Given the description of an element on the screen output the (x, y) to click on. 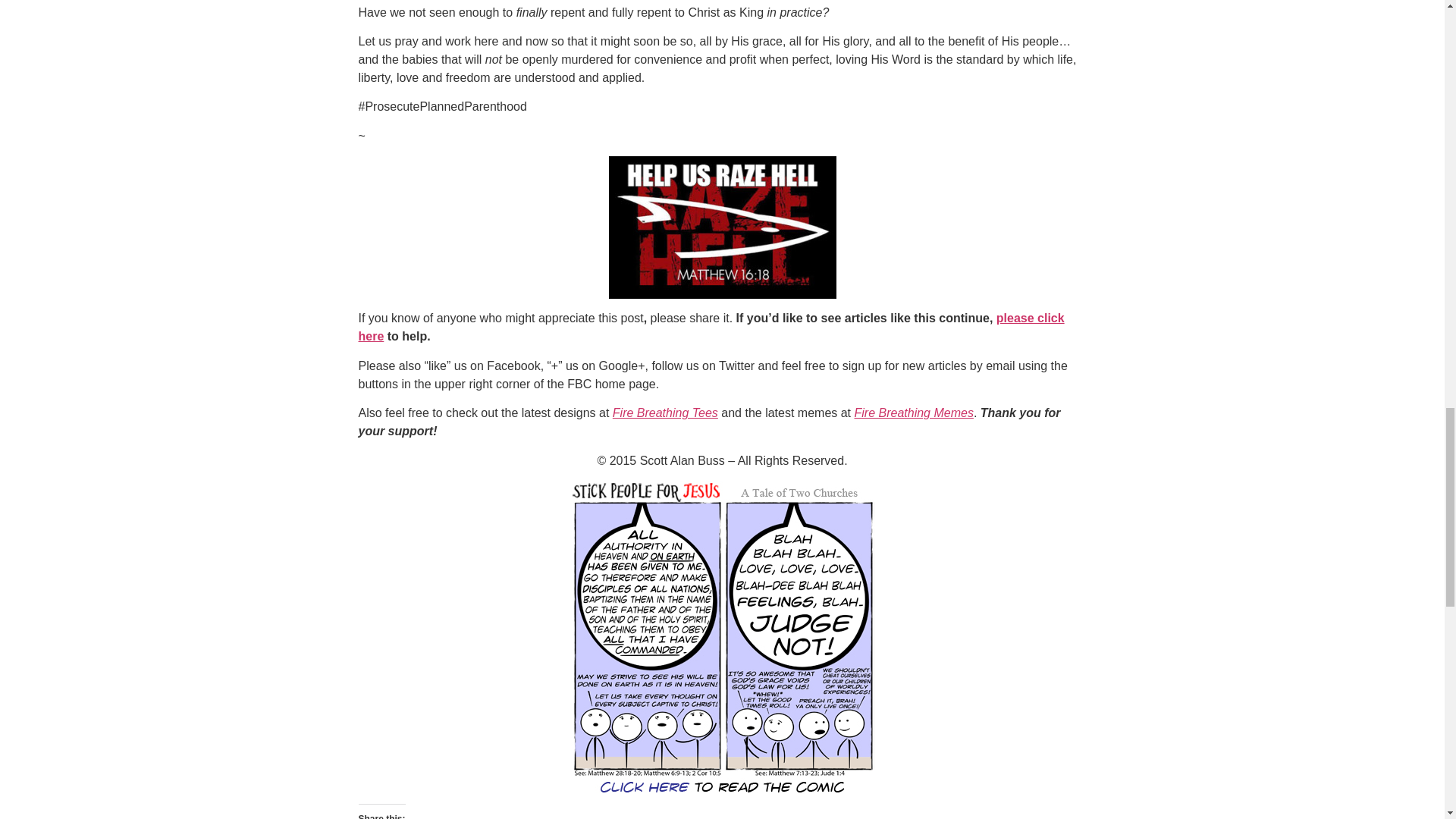
Fire Breathing Tees (664, 412)
please click here (711, 327)
Fire Breathing Memes (914, 412)
